Given the description of an element on the screen output the (x, y) to click on. 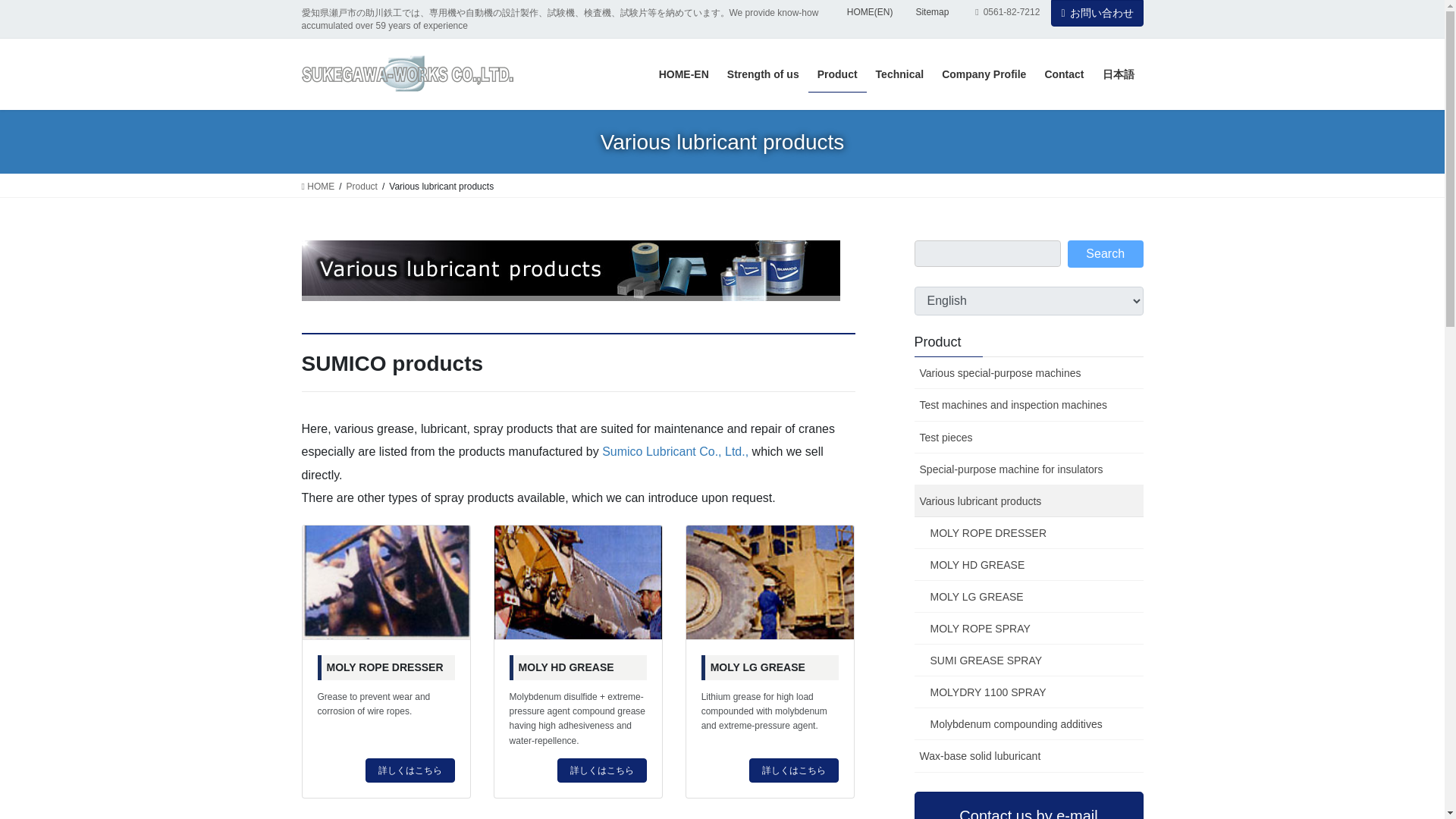
Technical (899, 74)
Contact (1064, 74)
Sitemap (931, 11)
Sumico Lubricant Co., Ltd., (675, 451)
Company Profile (984, 74)
Strength of us (762, 74)
Search (1104, 253)
HOME (317, 186)
Product (361, 186)
HOME-EN (683, 74)
Product (837, 74)
